Given the description of an element on the screen output the (x, y) to click on. 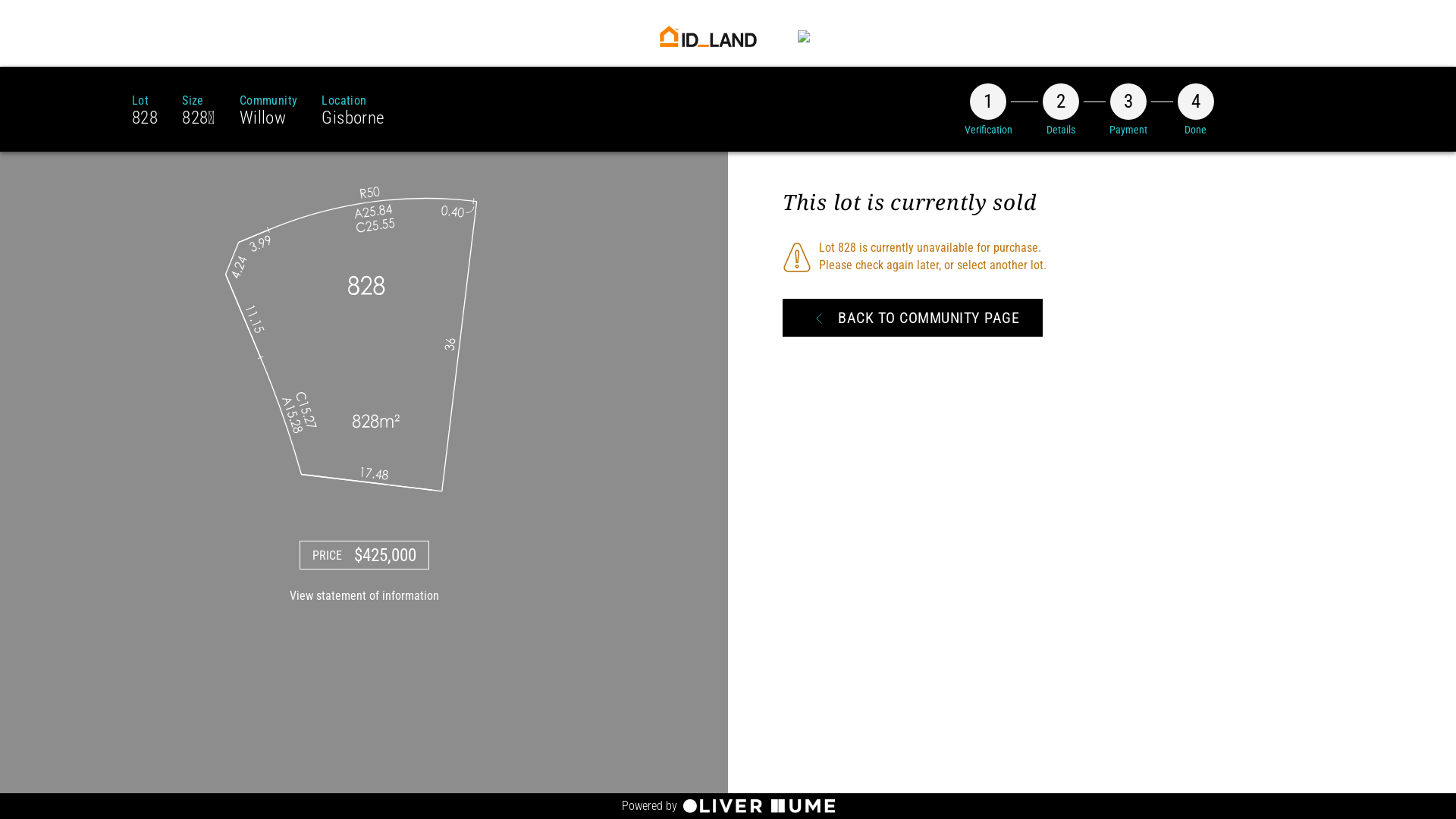
View statement of information Element type: text (364, 615)
BACK TO COMMUNITY PAGE Element type: text (912, 317)
